Given the description of an element on the screen output the (x, y) to click on. 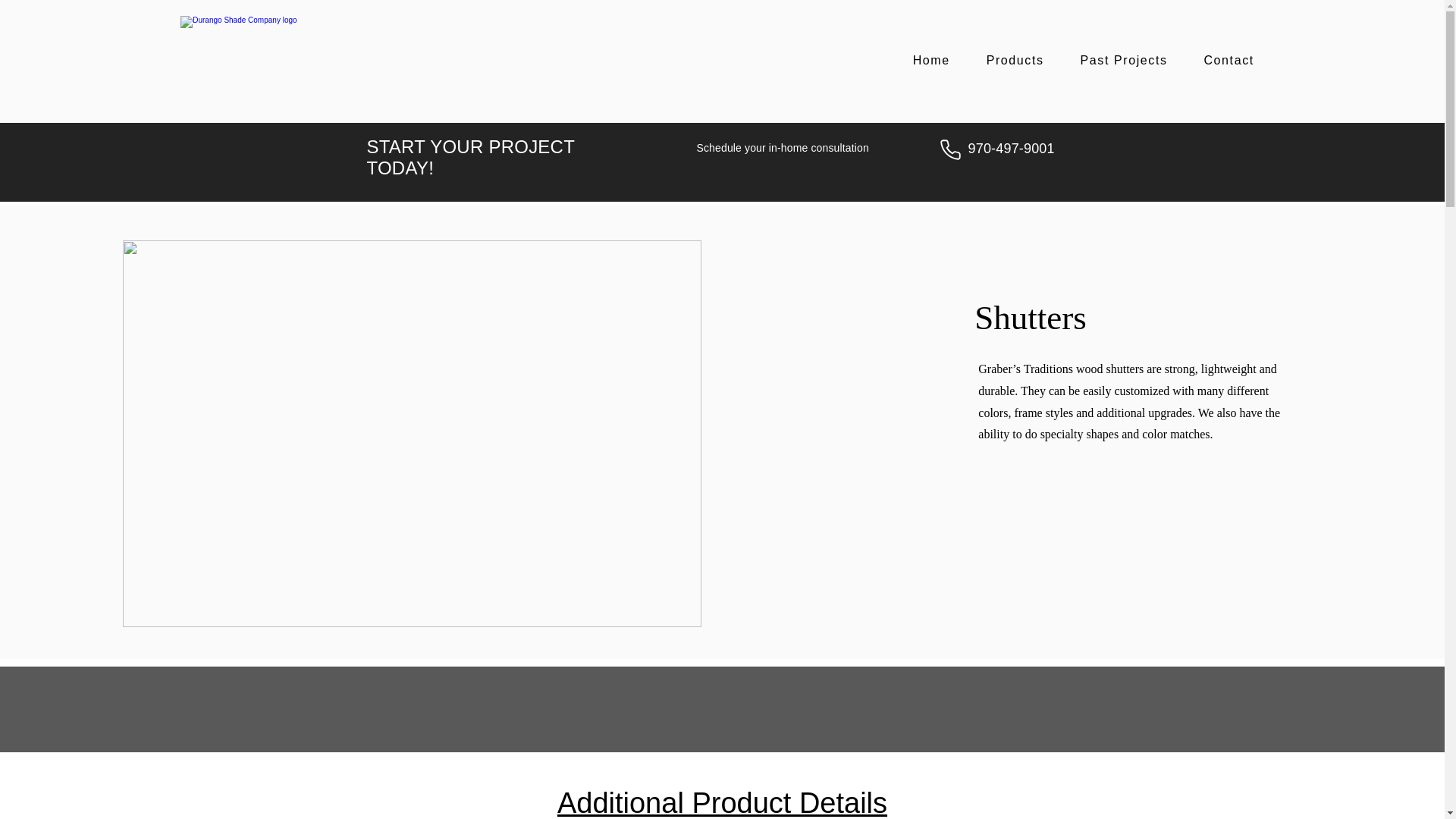
Home (931, 60)
Past Projects (1123, 60)
Contact (1229, 60)
Products (1015, 60)
